Given the description of an element on the screen output the (x, y) to click on. 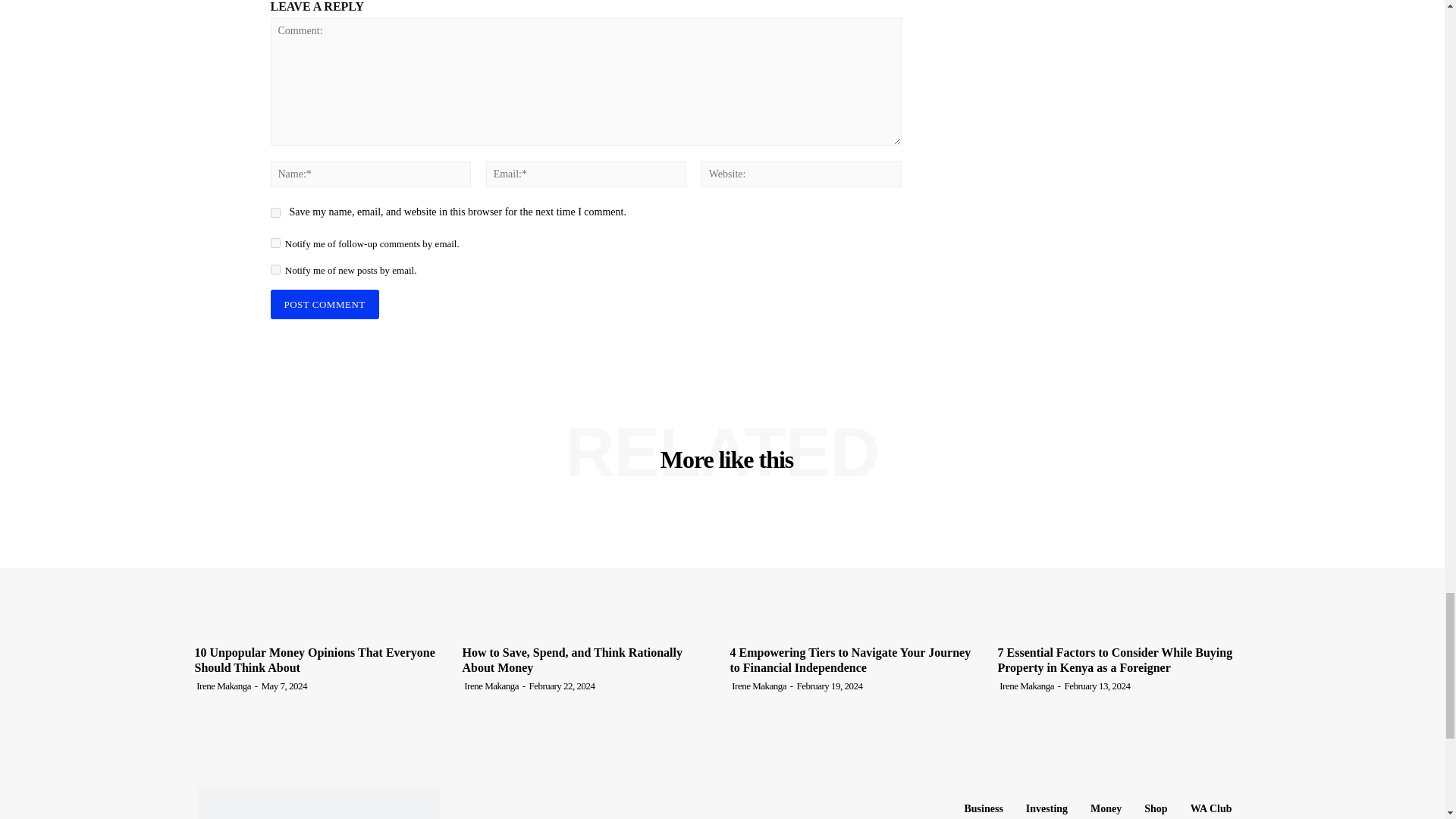
Post Comment (323, 304)
subscribe (274, 243)
yes (274, 212)
subscribe (274, 269)
